Given the description of an element on the screen output the (x, y) to click on. 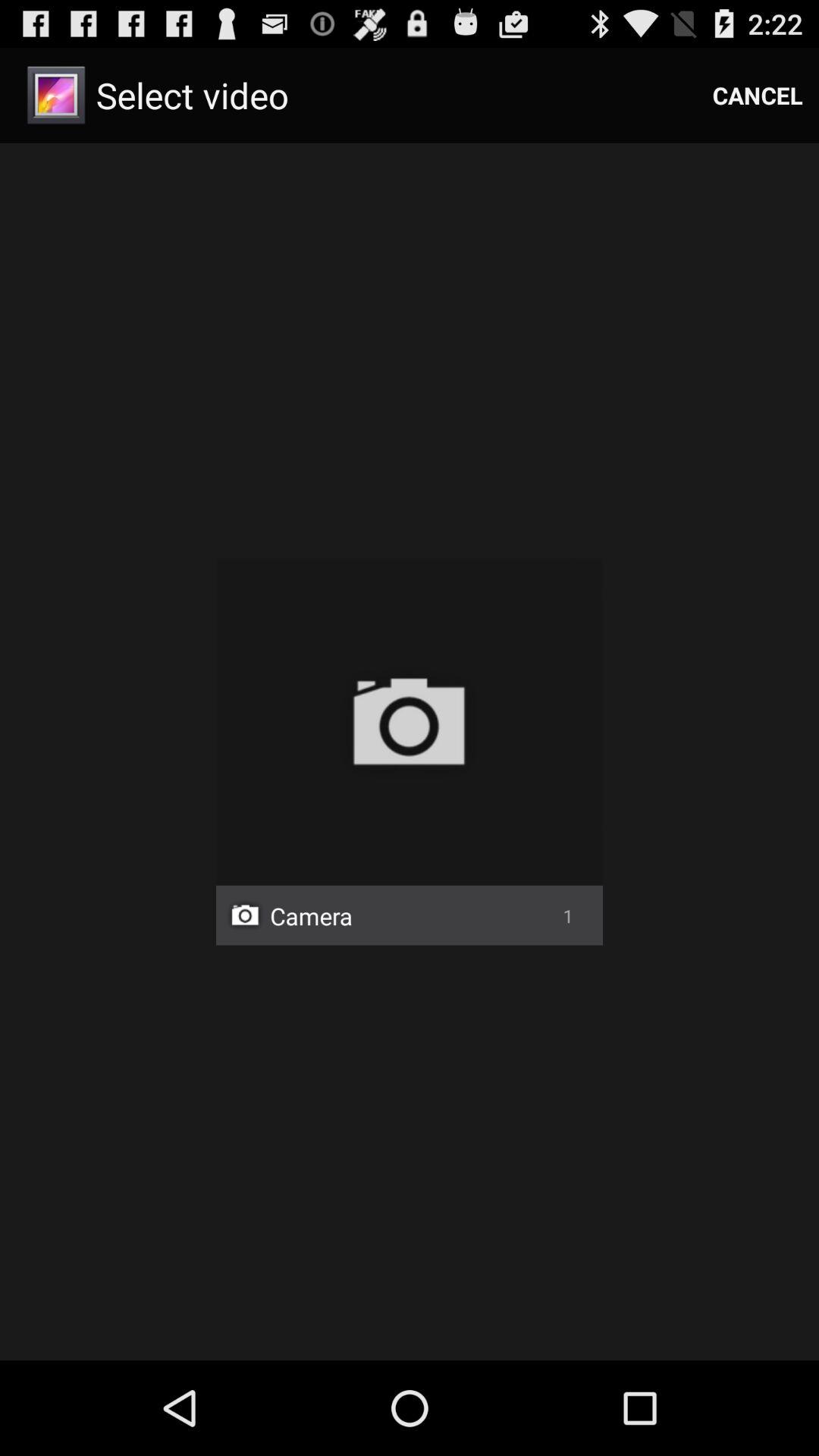
press the icon to the right of the select video (757, 95)
